Given the description of an element on the screen output the (x, y) to click on. 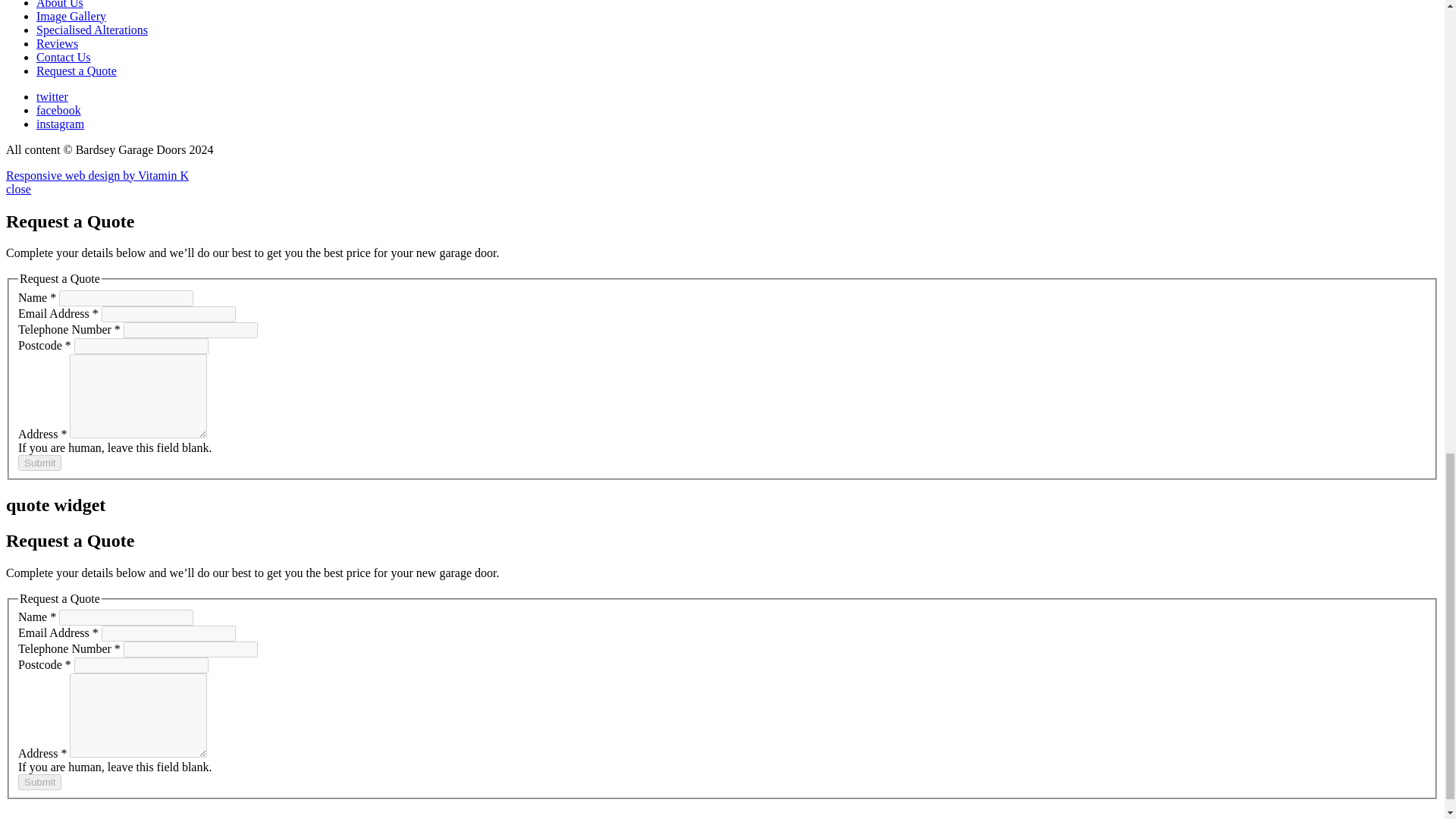
Specialised Alterations (92, 29)
Contact Us (63, 56)
Responsive web design by Vitamin K (97, 174)
About Us (59, 4)
close (17, 188)
Request a Quote (76, 70)
instagram (60, 123)
Submit (39, 462)
facebook (58, 110)
Submit (39, 781)
twitter (52, 96)
Image Gallery (71, 15)
Reviews (57, 42)
